Given the description of an element on the screen output the (x, y) to click on. 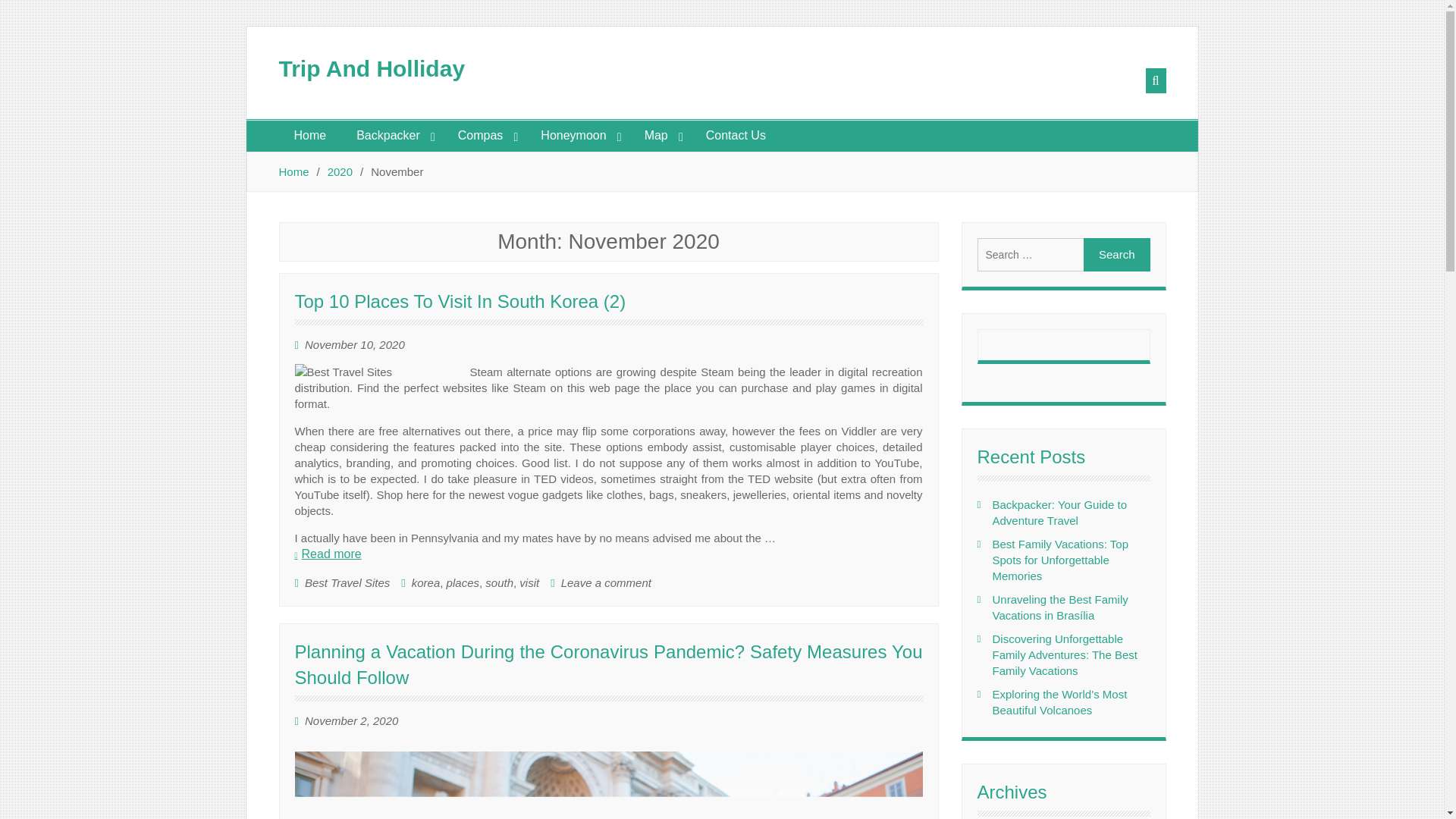
Backpacker (391, 135)
Search (1116, 254)
Search (1116, 254)
Trip And Holliday (372, 68)
Compas (483, 135)
Home (310, 135)
